Given the description of an element on the screen output the (x, y) to click on. 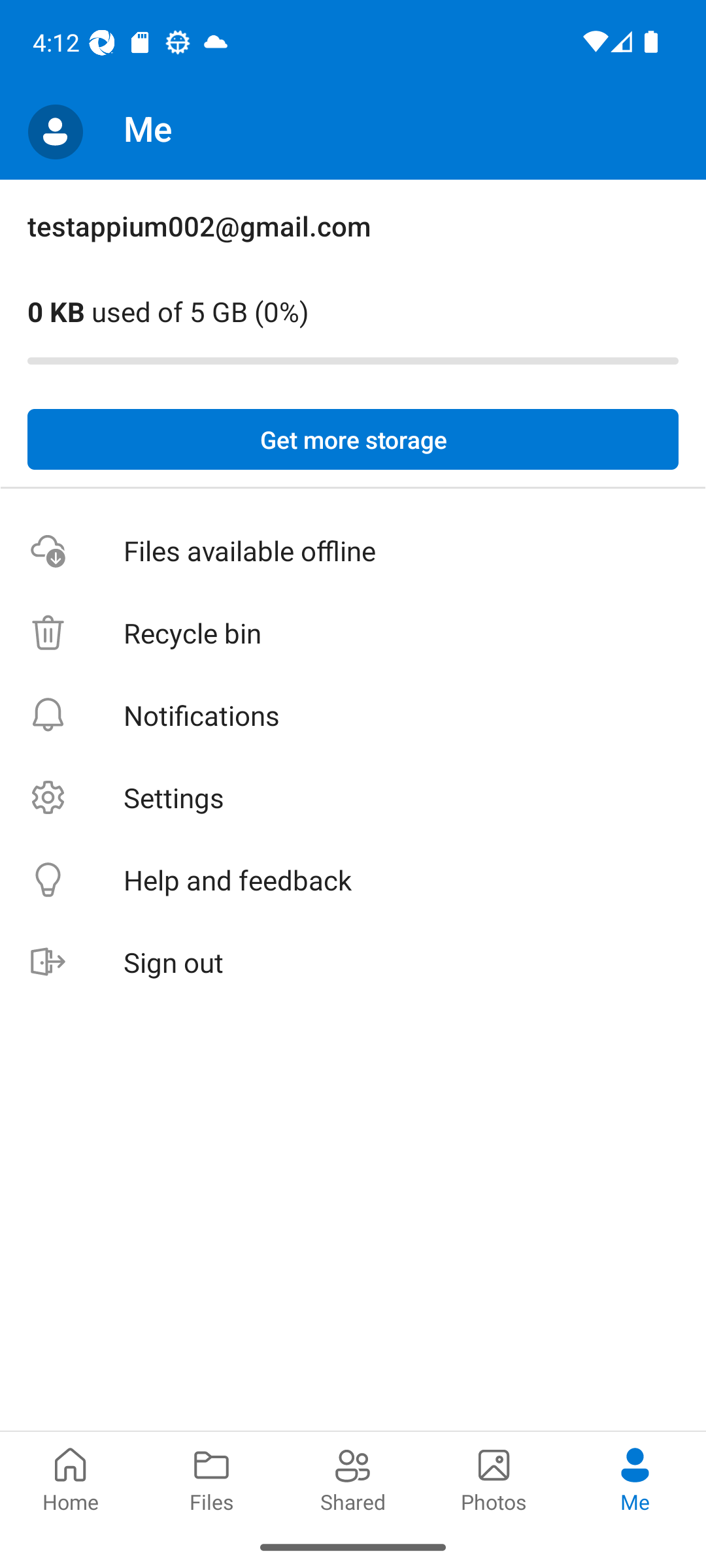
Account switcher (55, 131)
Get more storage (352, 439)
Files available offline (353, 550)
Recycle bin (353, 633)
Notifications (353, 714)
Settings (353, 796)
Help and feedback (353, 879)
Sign out (353, 962)
Home pivot Home (70, 1478)
Files pivot Files (211, 1478)
Shared pivot Shared (352, 1478)
Photos pivot Photos (493, 1478)
